Given the description of an element on the screen output the (x, y) to click on. 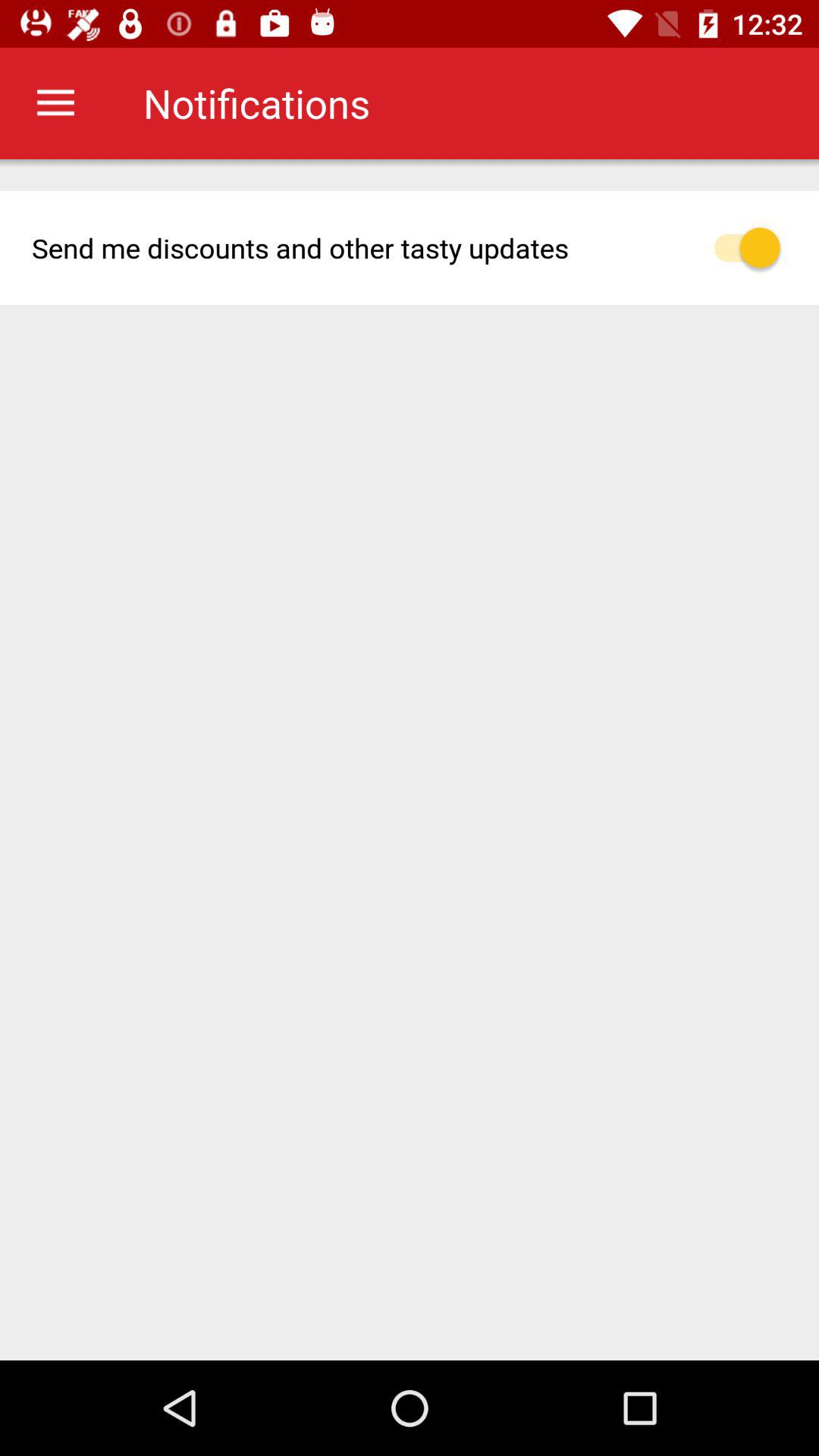
off and on toggle (755, 247)
